Given the description of an element on the screen output the (x, y) to click on. 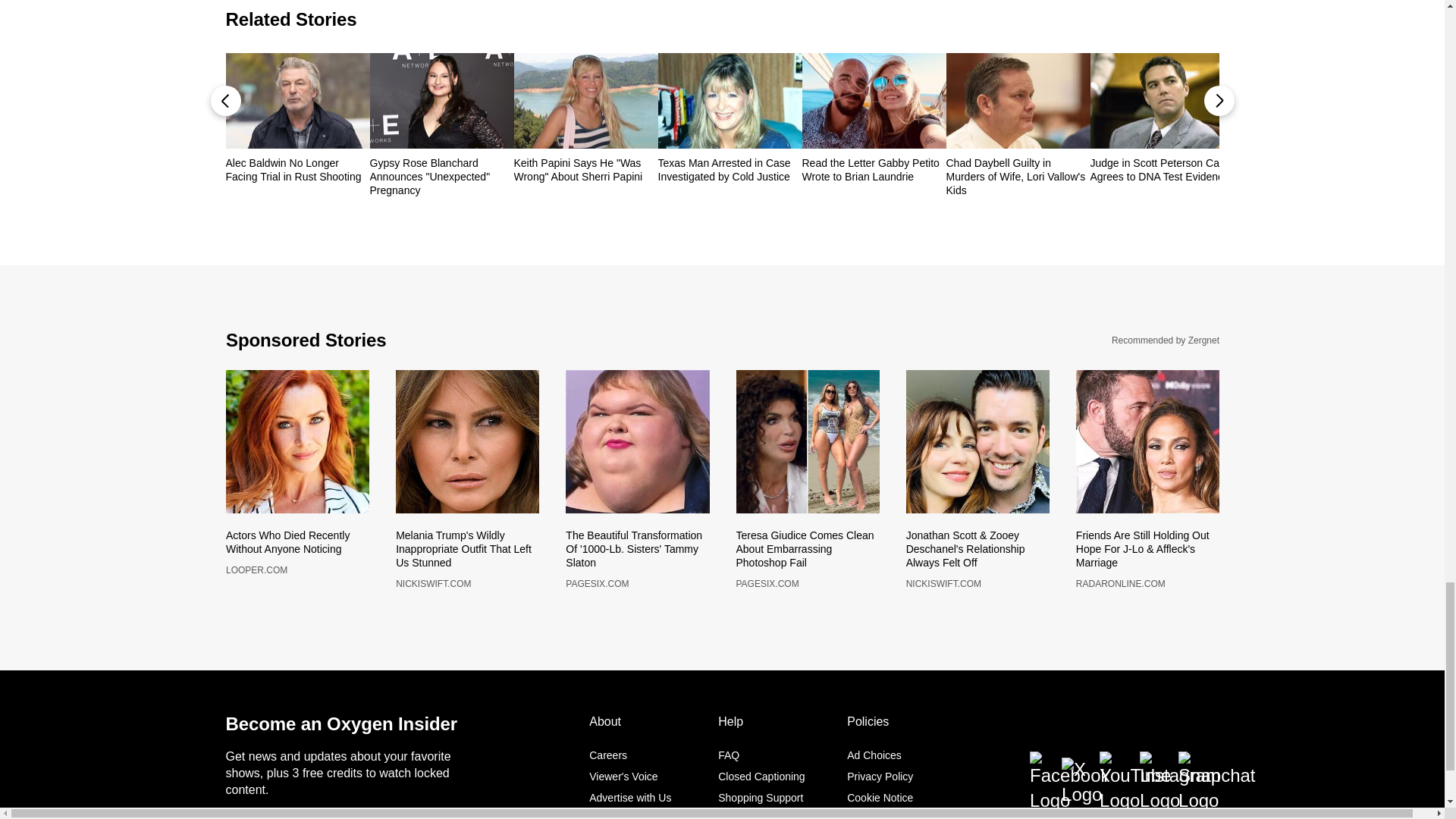
Advertise with Us (630, 791)
Gypsy Rose Blanchard Announces "Unexpected" Pregnancy (441, 176)
Alec Baldwin No Longer Facing Trial in Rust Shooting (297, 169)
Keith Papini Says He "Was Wrong" About Sherri Papini (585, 169)
Texas Man Arrested in Case Investigated by Cold Justice (730, 169)
